Given the description of an element on the screen output the (x, y) to click on. 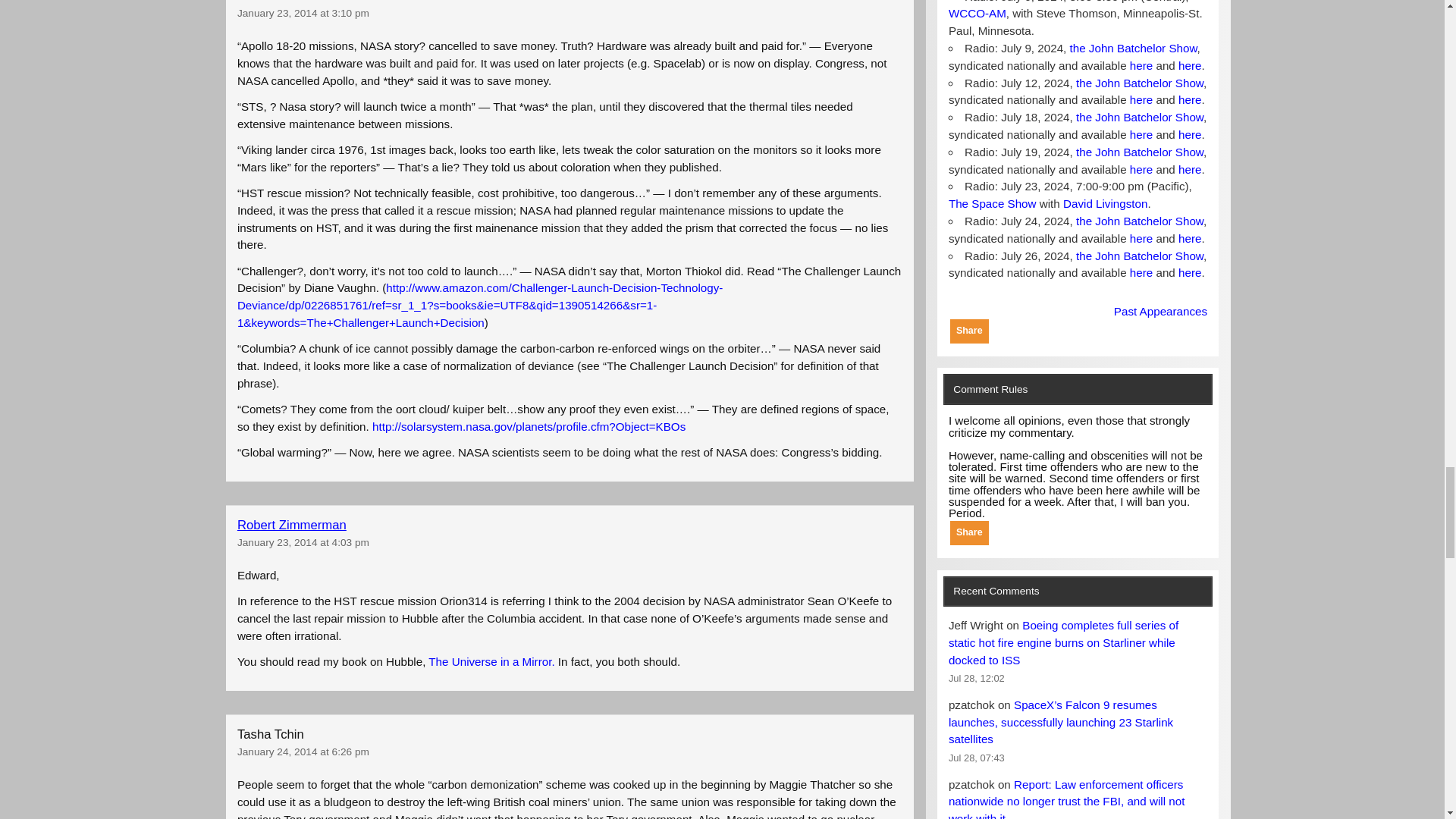
More (969, 532)
More (969, 331)
